Given the description of an element on the screen output the (x, y) to click on. 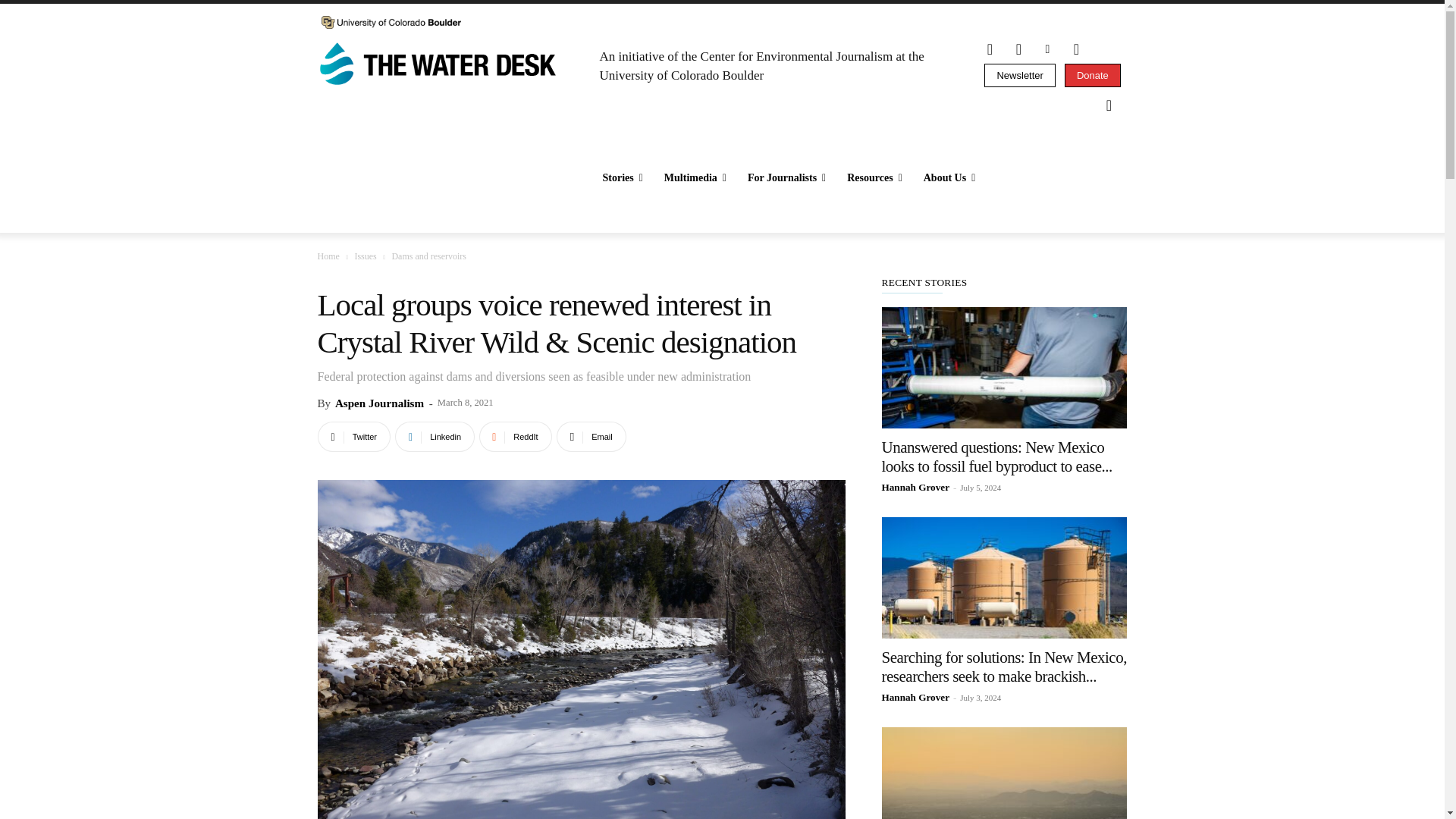
Donate (1092, 74)
Instagram (989, 49)
Water Desk Logo (439, 64)
Waterdesk.photos (1075, 49)
Vimeo (1046, 49)
Twitter (1018, 49)
Newsletter (1019, 74)
